Given the description of an element on the screen output the (x, y) to click on. 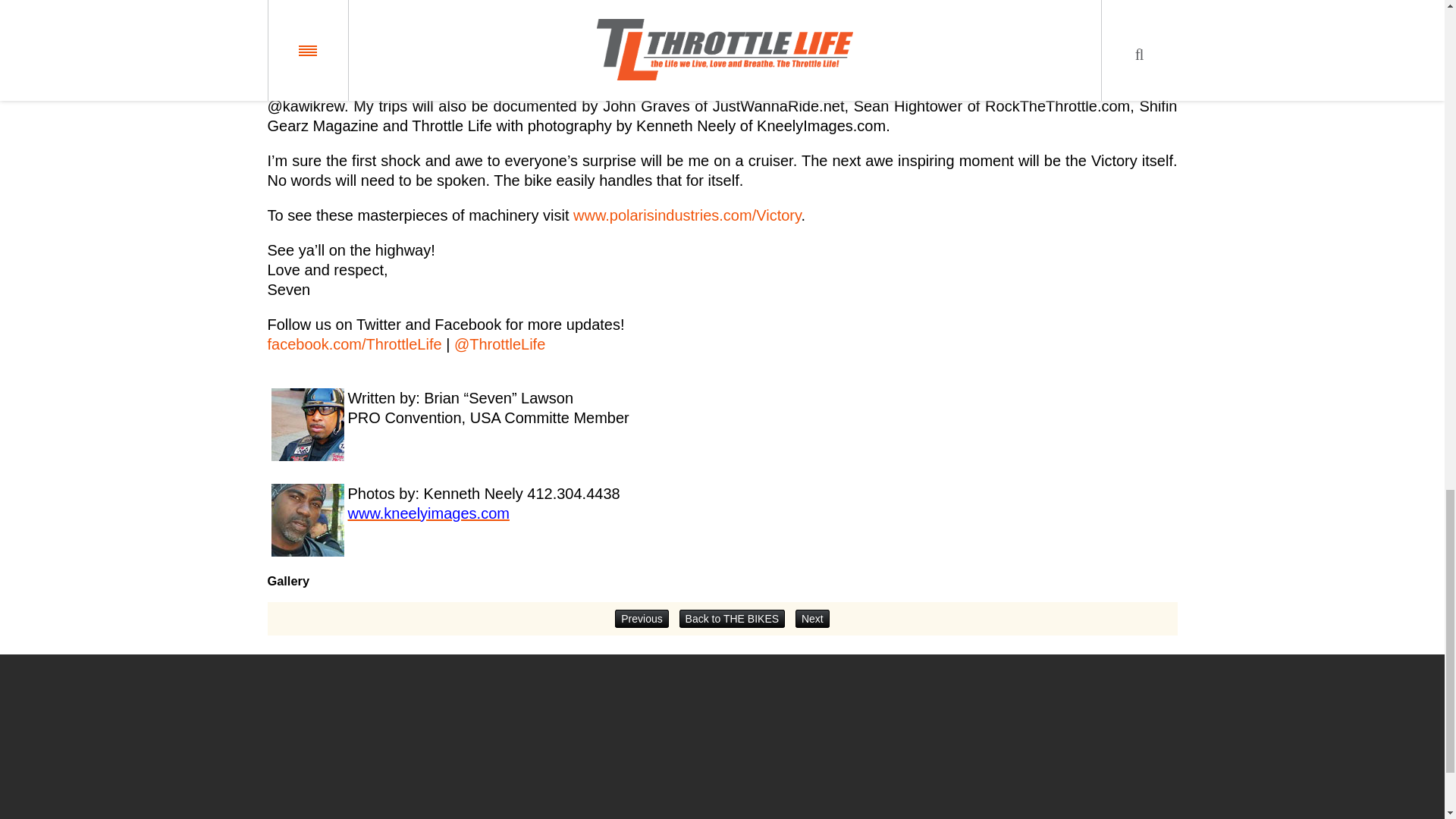
Next (811, 618)
www.kneelyimages.com (427, 513)
Previous (641, 618)
Back to THE BIKES (731, 618)
